Given the description of an element on the screen output the (x, y) to click on. 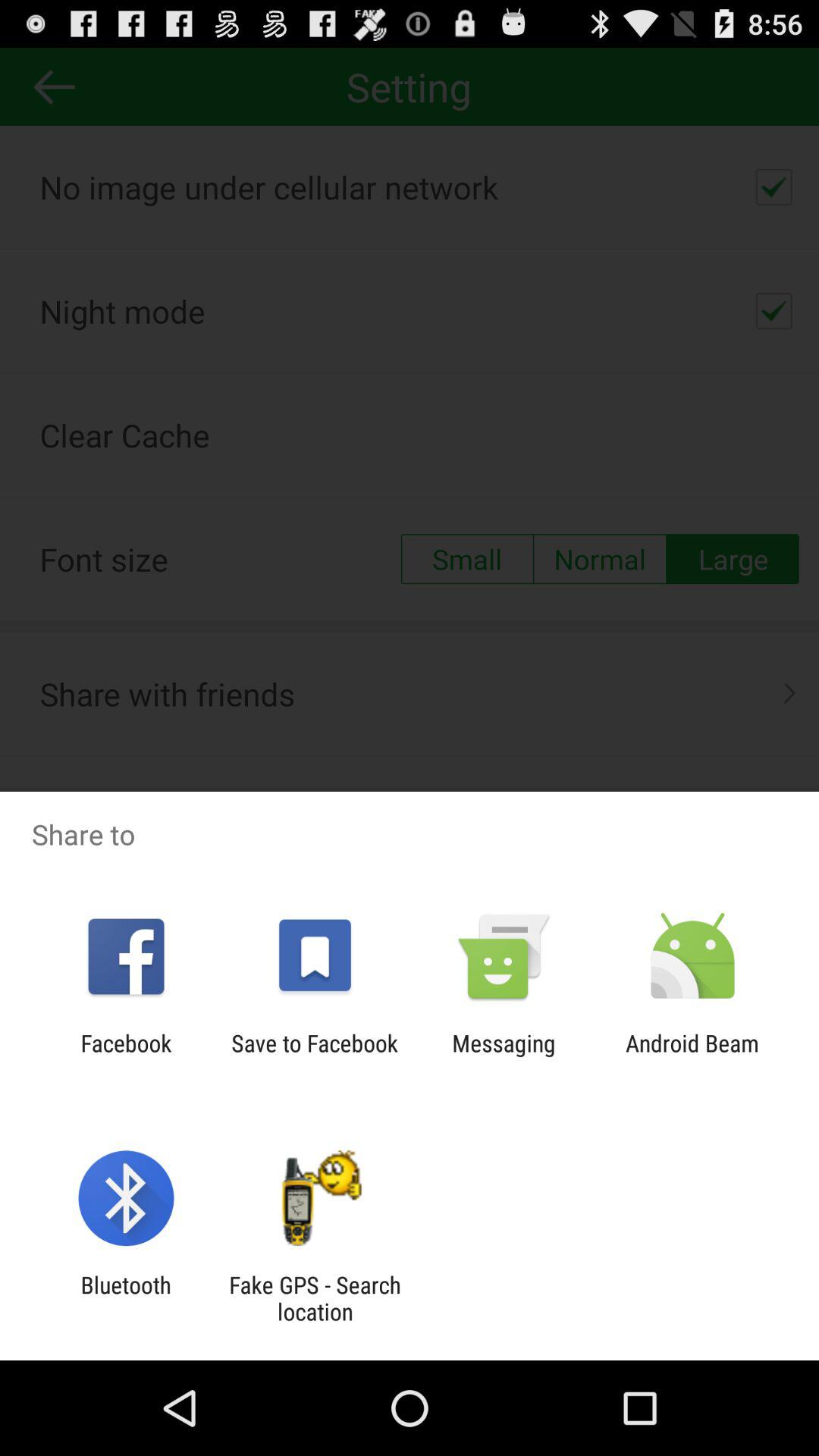
turn on app next to the bluetooth (314, 1298)
